Given the description of an element on the screen output the (x, y) to click on. 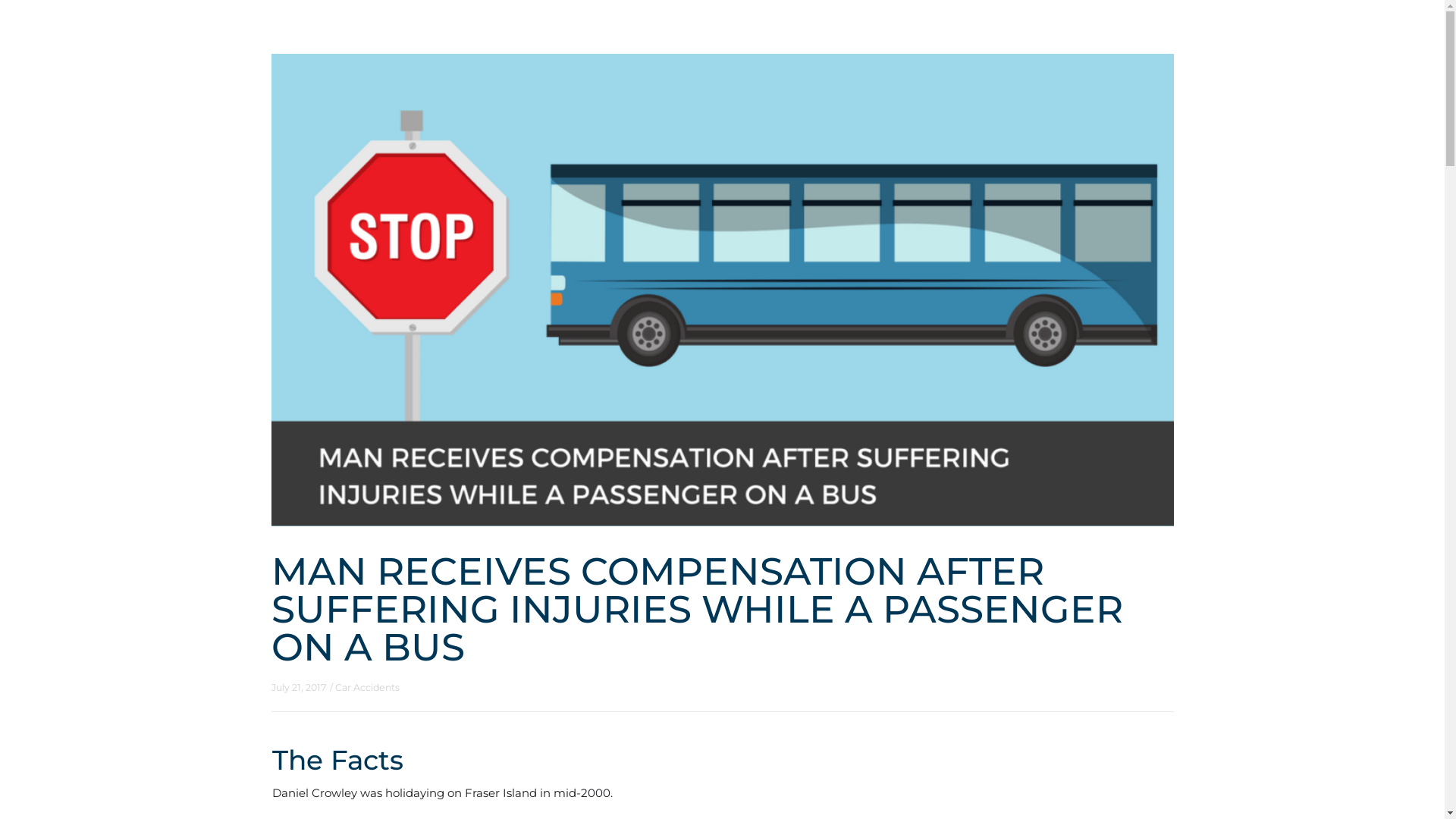
Car Accidents Element type: text (367, 687)
